Given the description of an element on the screen output the (x, y) to click on. 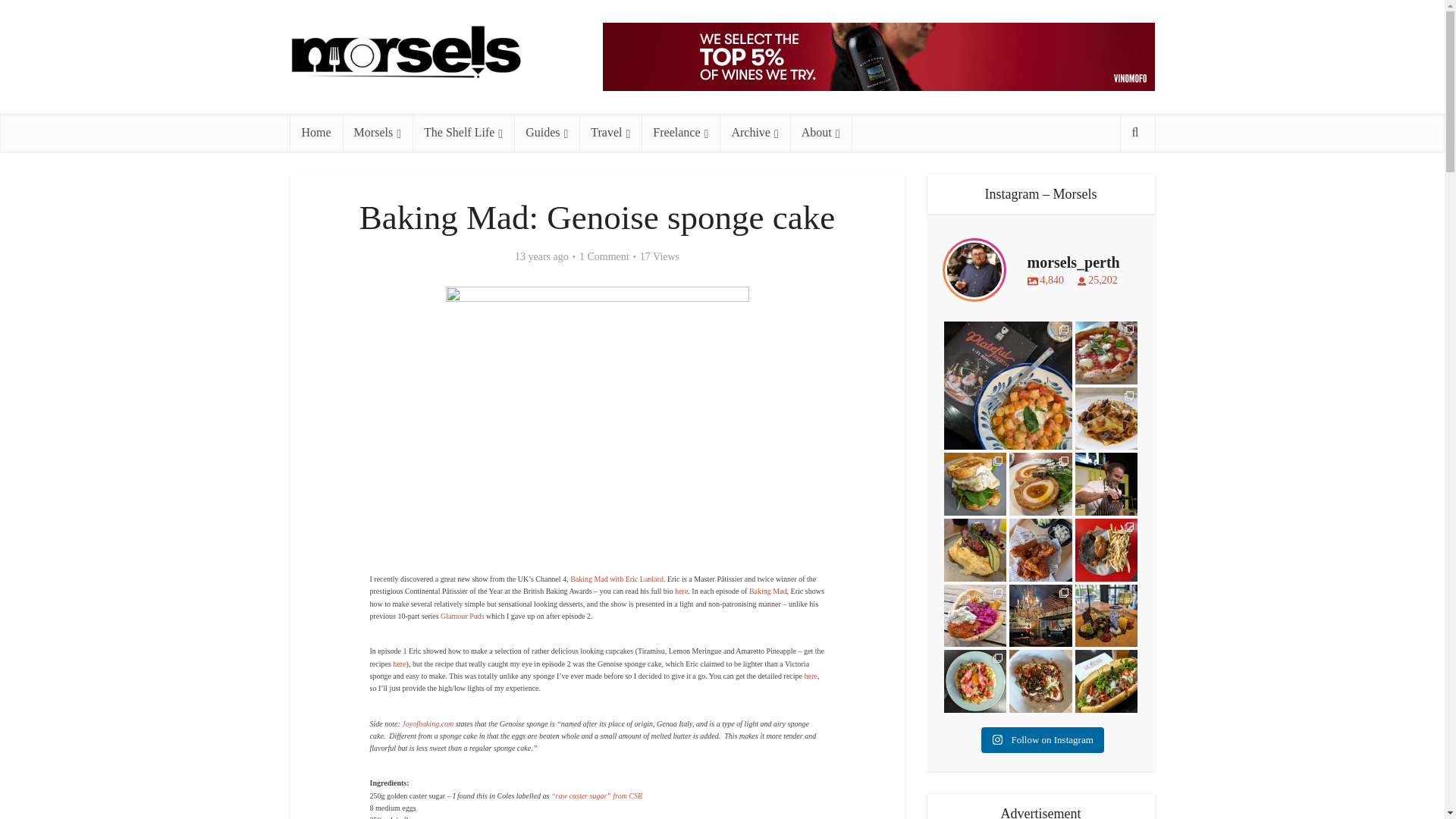
Archive (754, 132)
Eric Lanlard (681, 591)
About (820, 132)
Genoise sponge (809, 675)
Raw caster sugar (596, 795)
Home (315, 132)
Travel (610, 132)
Baking Mad (616, 578)
The Shelf Life (462, 132)
Glamour Puds (462, 615)
joy of baking (426, 723)
Freelance (680, 132)
Baking Mad (768, 591)
Morsels (377, 132)
Guides (546, 132)
